Given the description of an element on the screen output the (x, y) to click on. 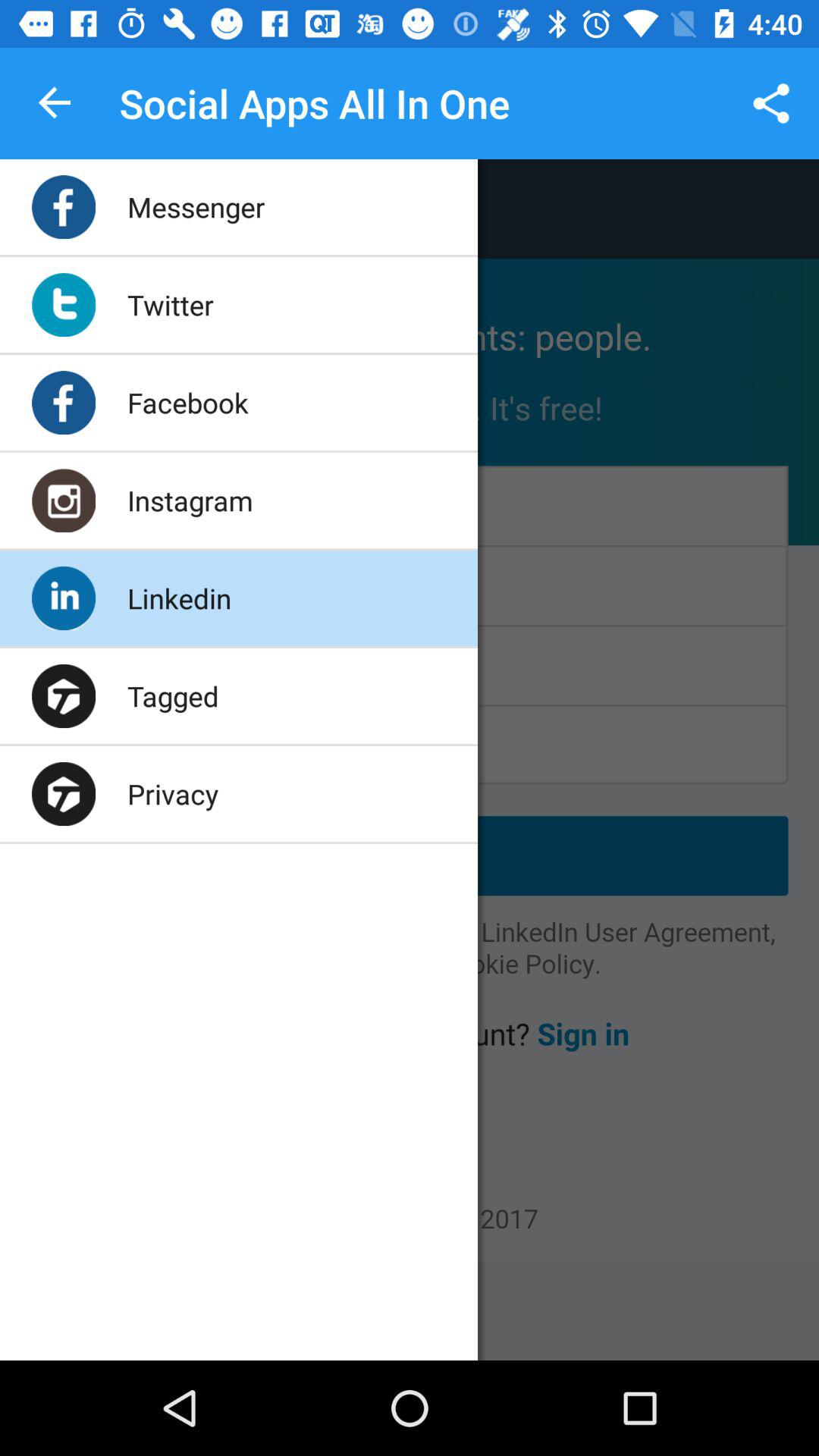
jump until linkedin (179, 598)
